Given the description of an element on the screen output the (x, y) to click on. 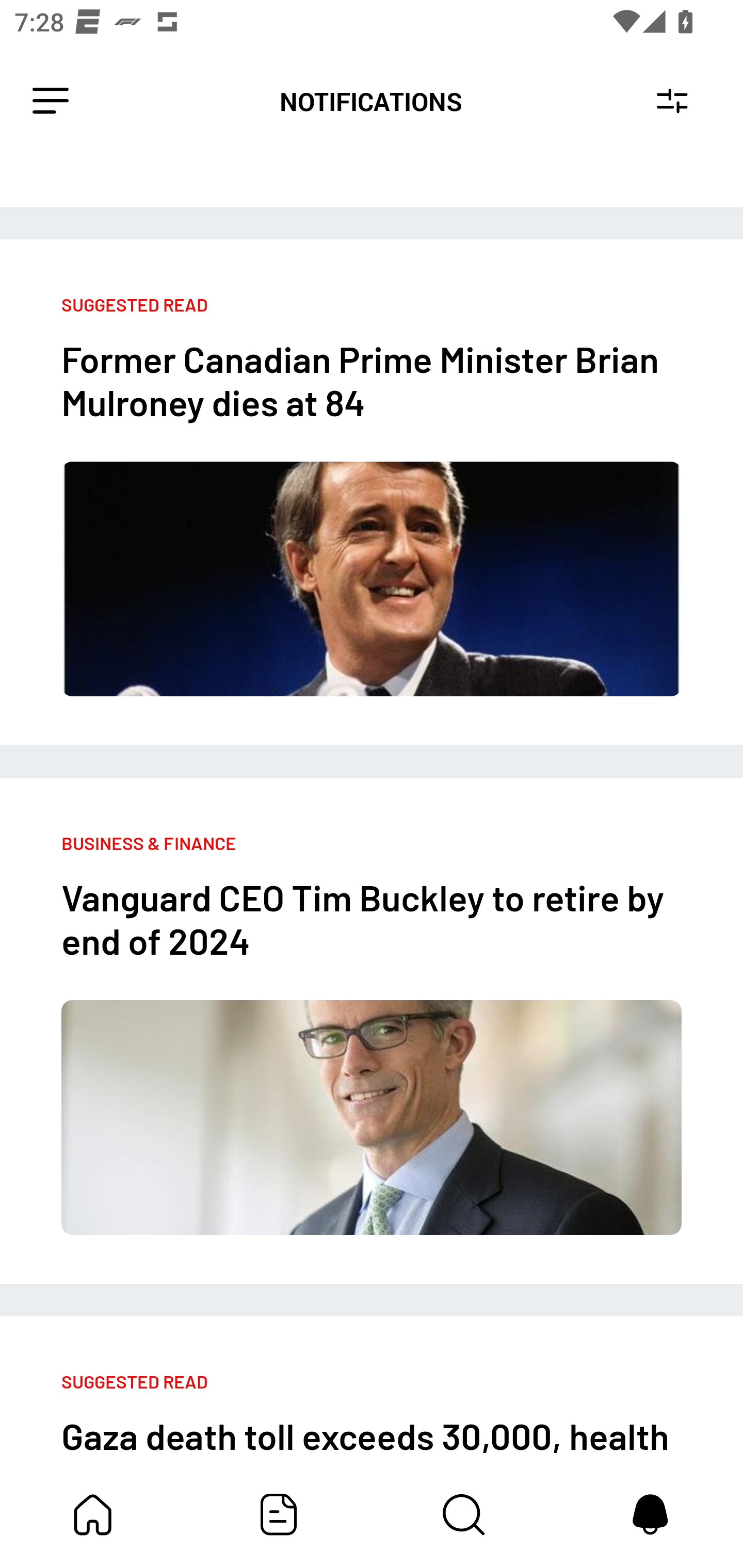
Leading Icon (50, 101)
Notification Settings (672, 101)
My Bundle (92, 1514)
Featured (278, 1514)
Content Store (464, 1514)
